Given the description of an element on the screen output the (x, y) to click on. 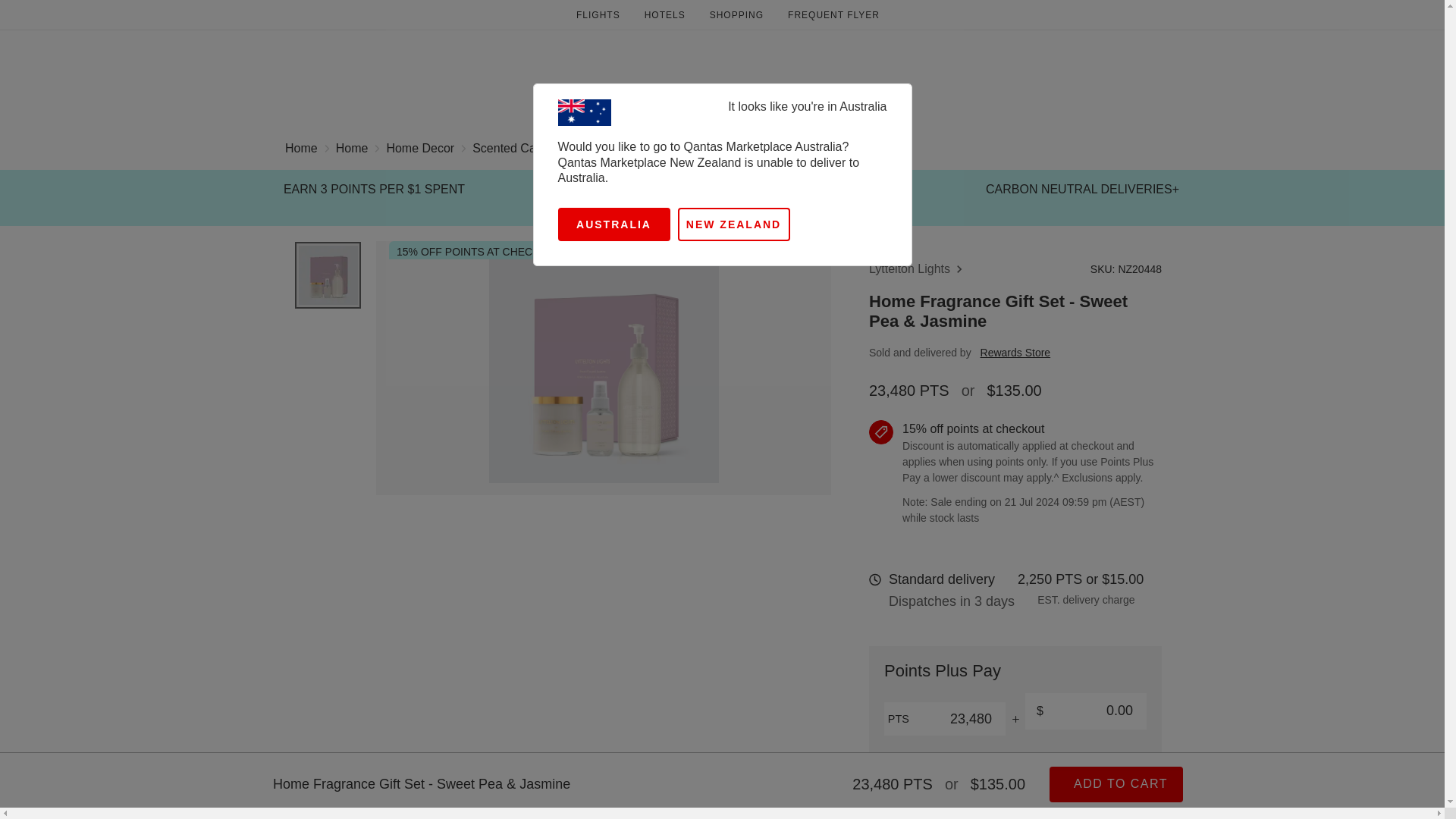
Lyttelton Lights (917, 269)
HOTELS (664, 15)
0.00 (1086, 710)
FREQUENT FLYER (833, 15)
Home (301, 150)
23,480 (944, 718)
Rewards Store (1015, 352)
Home (352, 150)
FLIGHTS (597, 15)
SHOPPING (736, 15)
Home Decor (419, 150)
